Given the description of an element on the screen output the (x, y) to click on. 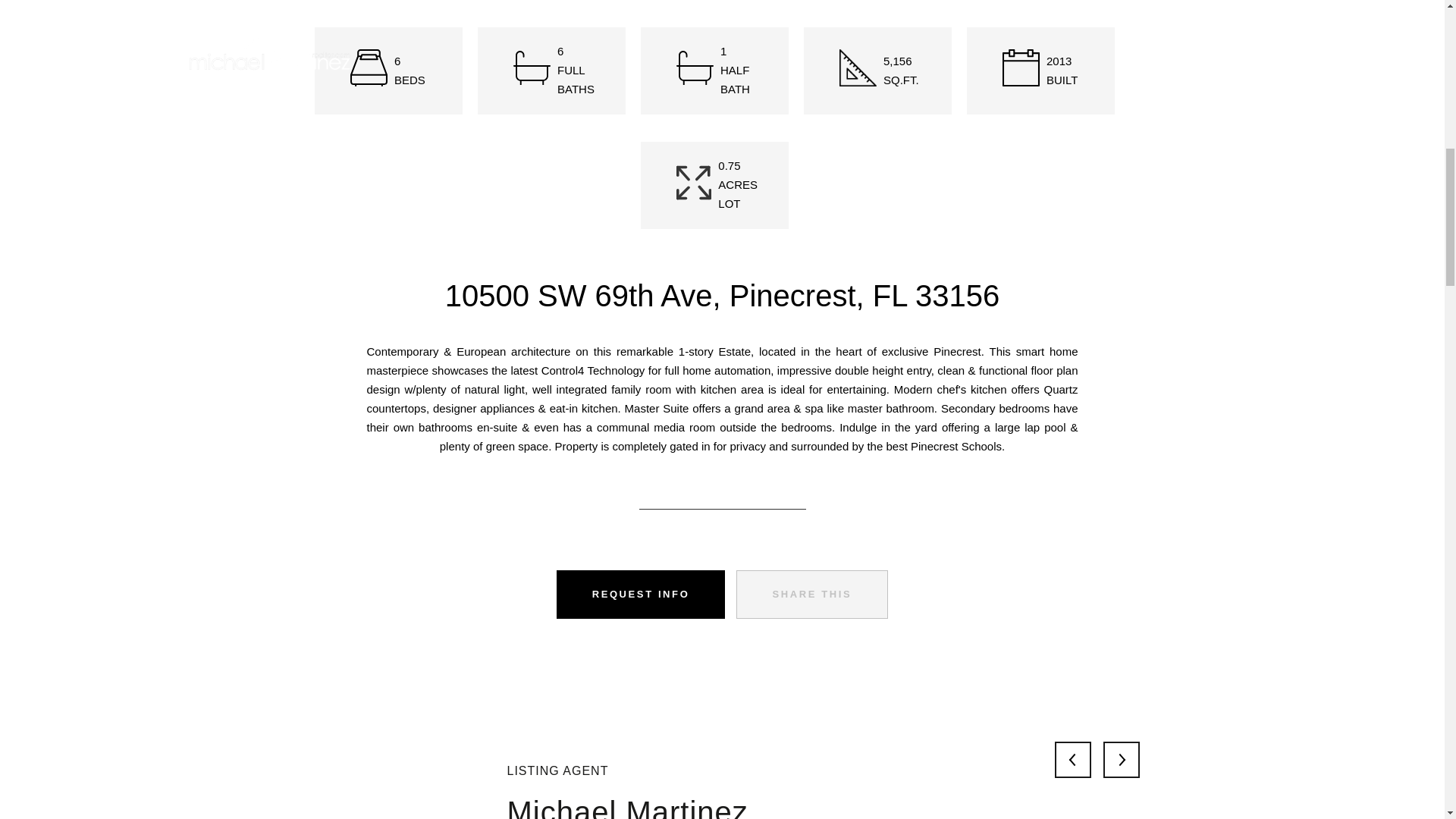
REQUEST INFO (640, 594)
SHARE THIS (812, 594)
prev (1072, 760)
